Given the description of an element on the screen output the (x, y) to click on. 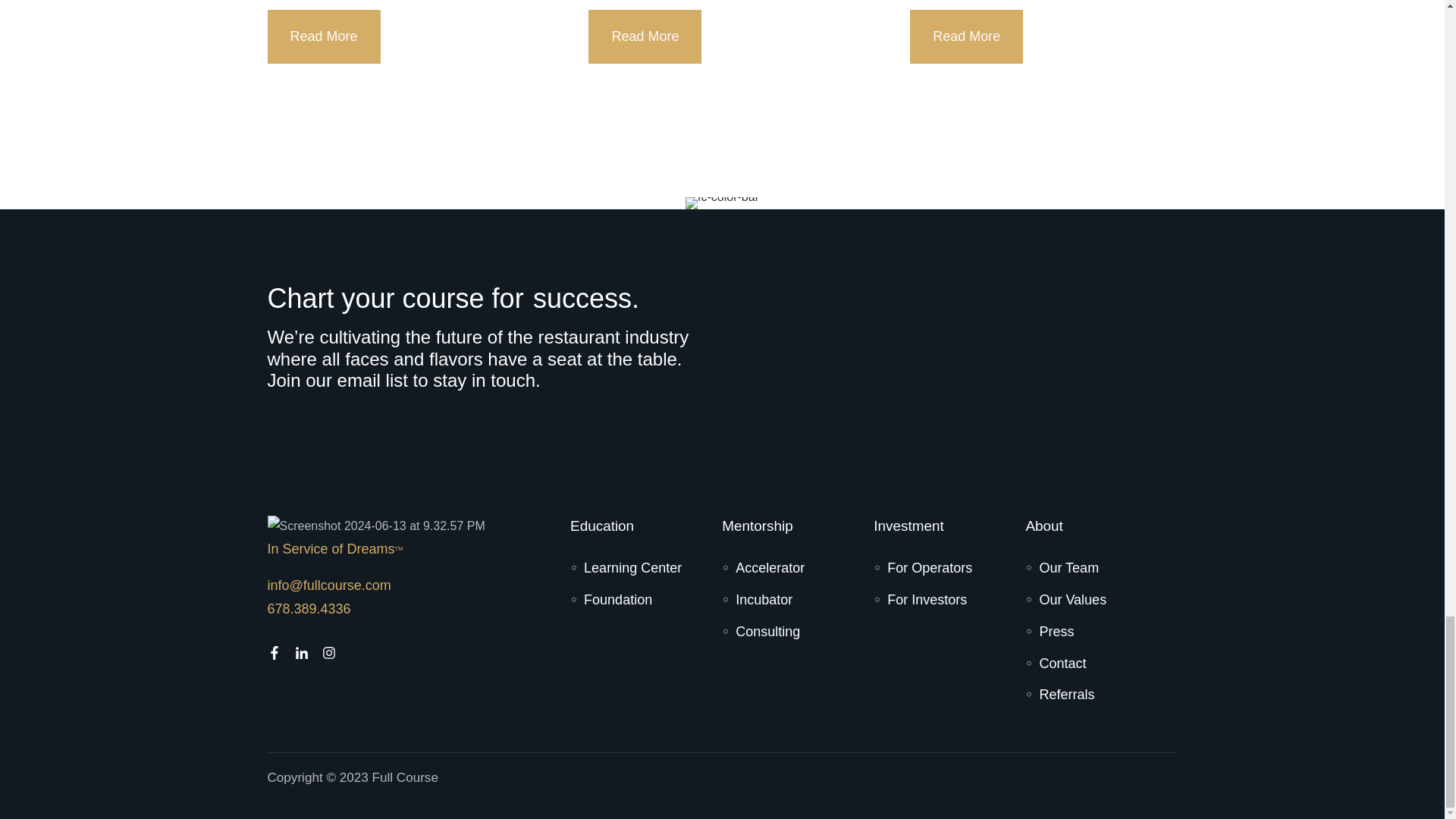
fc-color-bar (721, 203)
Follow us on Twitter (327, 653)
Follow us on LinkedIn (300, 653)
Follow us on Facebook (273, 653)
